Given the description of an element on the screen output the (x, y) to click on. 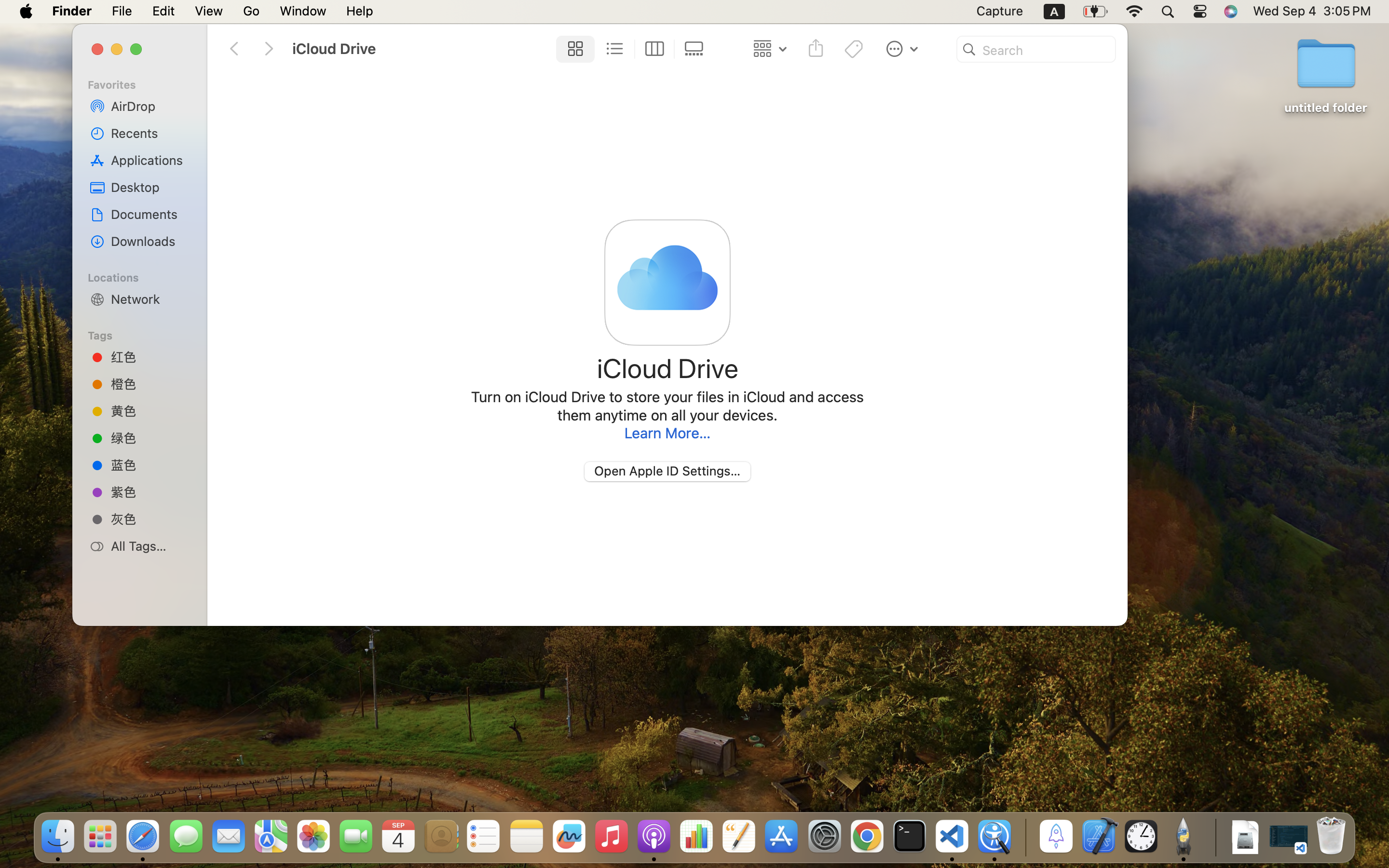
Applications Element type: AXStaticText (149, 159)
Network Element type: AXStaticText (149, 298)
Recents Element type: AXStaticText (149, 132)
